Given the description of an element on the screen output the (x, y) to click on. 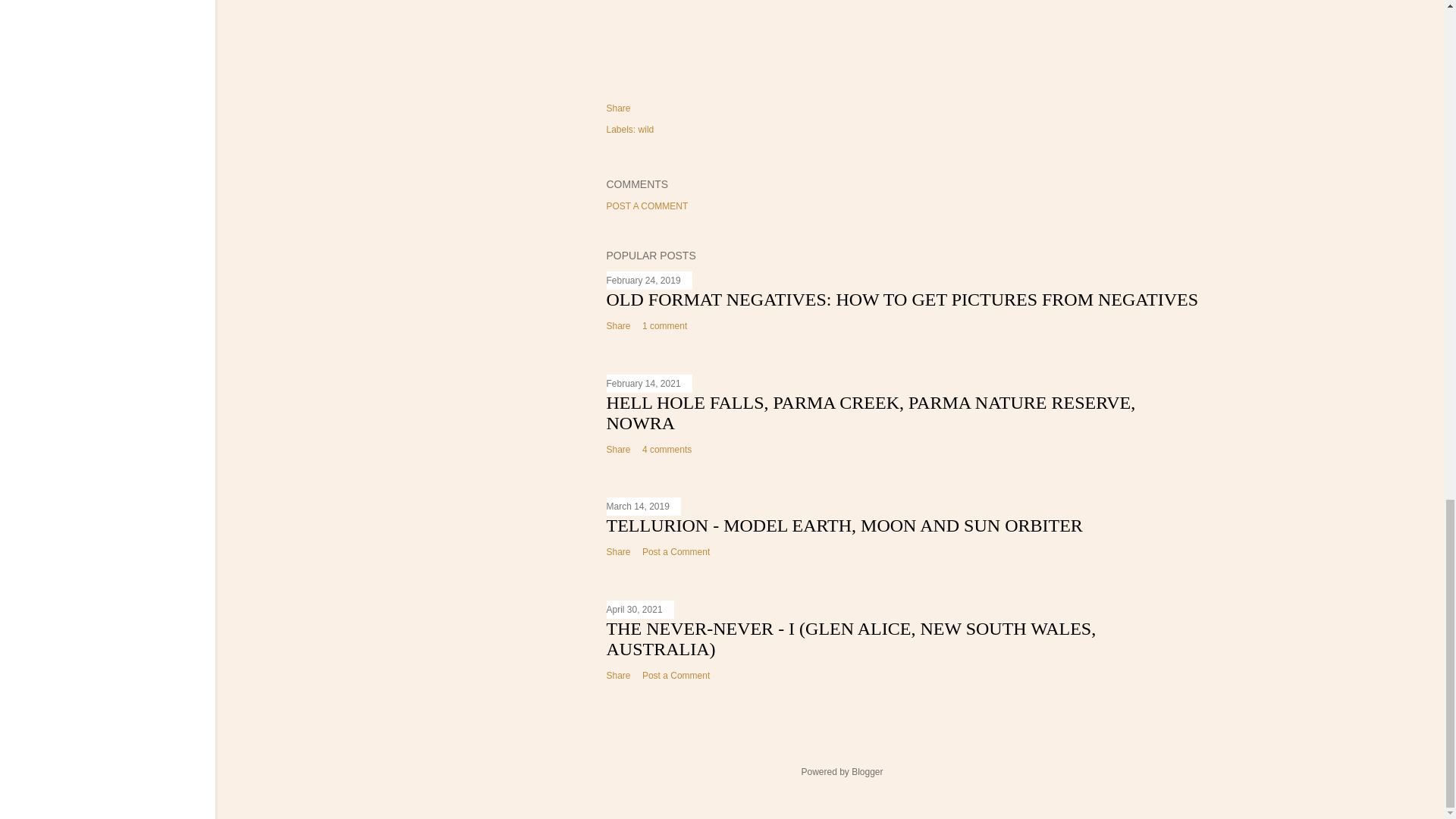
permanent link (644, 280)
HELL HOLE FALLS, PARMA CREEK, PARMA NATURE RESERVE, NOWRA (871, 413)
POST A COMMENT (647, 205)
Share (618, 449)
Share (618, 108)
wild (646, 129)
February 14, 2021 (644, 383)
1 comment (664, 326)
OLD FORMAT NEGATIVES: HOW TO GET PICTURES FROM NEGATIVES (902, 299)
4 comments (666, 449)
Share (618, 326)
February 24, 2019 (644, 280)
